Given the description of an element on the screen output the (x, y) to click on. 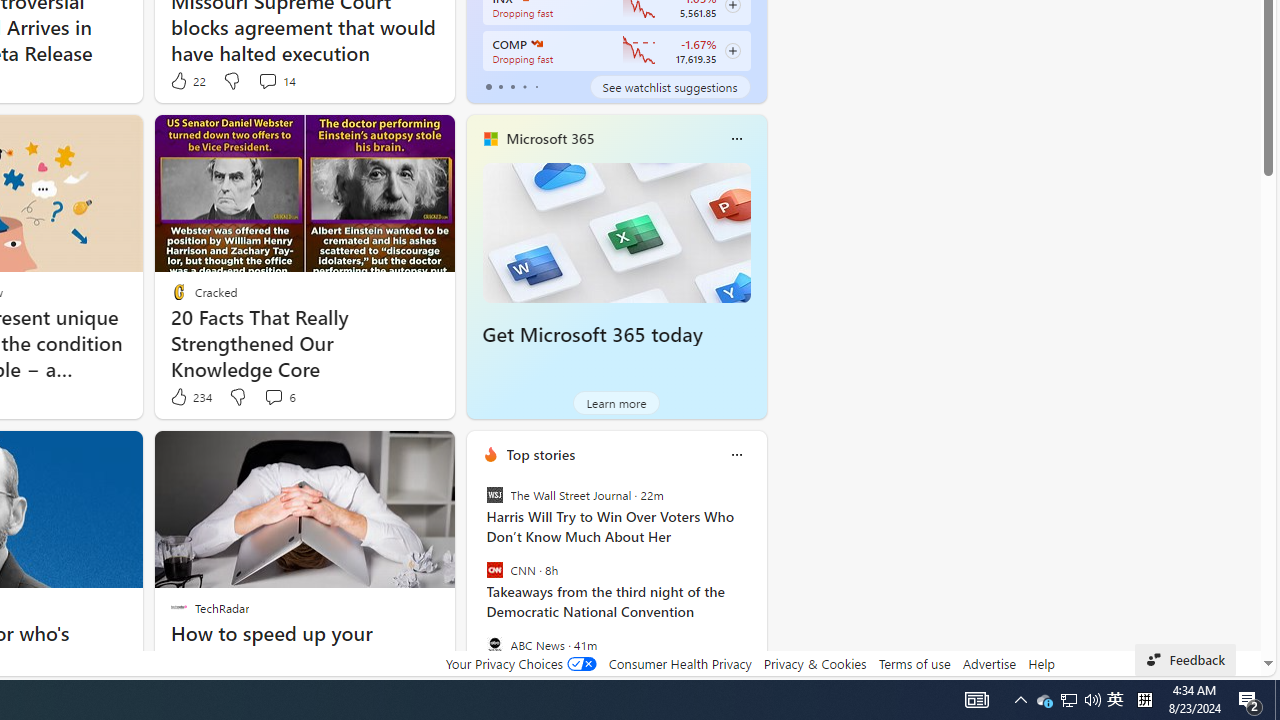
tab-1 (500, 86)
tab-0 (488, 86)
Top stories (540, 454)
ABC News (494, 644)
22 Like (186, 80)
previous (476, 583)
Class: icon-img (736, 454)
Get Microsoft 365 today (616, 232)
Hide this story (201, 454)
Terms of use (914, 663)
tab-4 (535, 86)
View comments 14 Comment (276, 80)
